Given the description of an element on the screen output the (x, y) to click on. 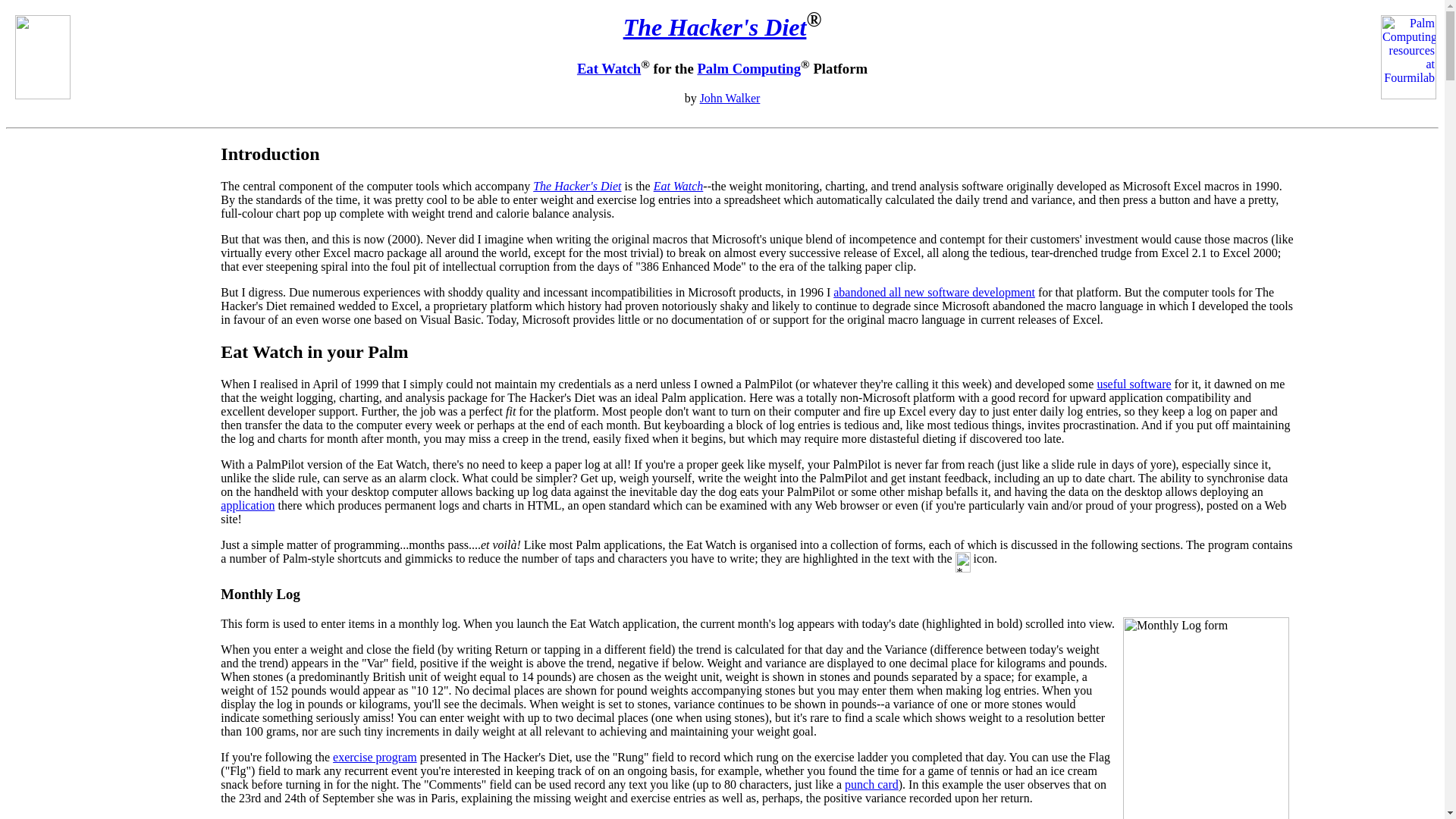
Palm Computing (748, 68)
Monthly Log (260, 593)
abandoned all new software development (933, 291)
application (248, 504)
John Walker (730, 97)
The Hacker's Diet (714, 26)
Eat Watch (608, 68)
Eat Watch (678, 185)
useful software (1133, 383)
The Hacker's Diet (576, 185)
exercise program (374, 757)
punch card (871, 784)
